Given the description of an element on the screen output the (x, y) to click on. 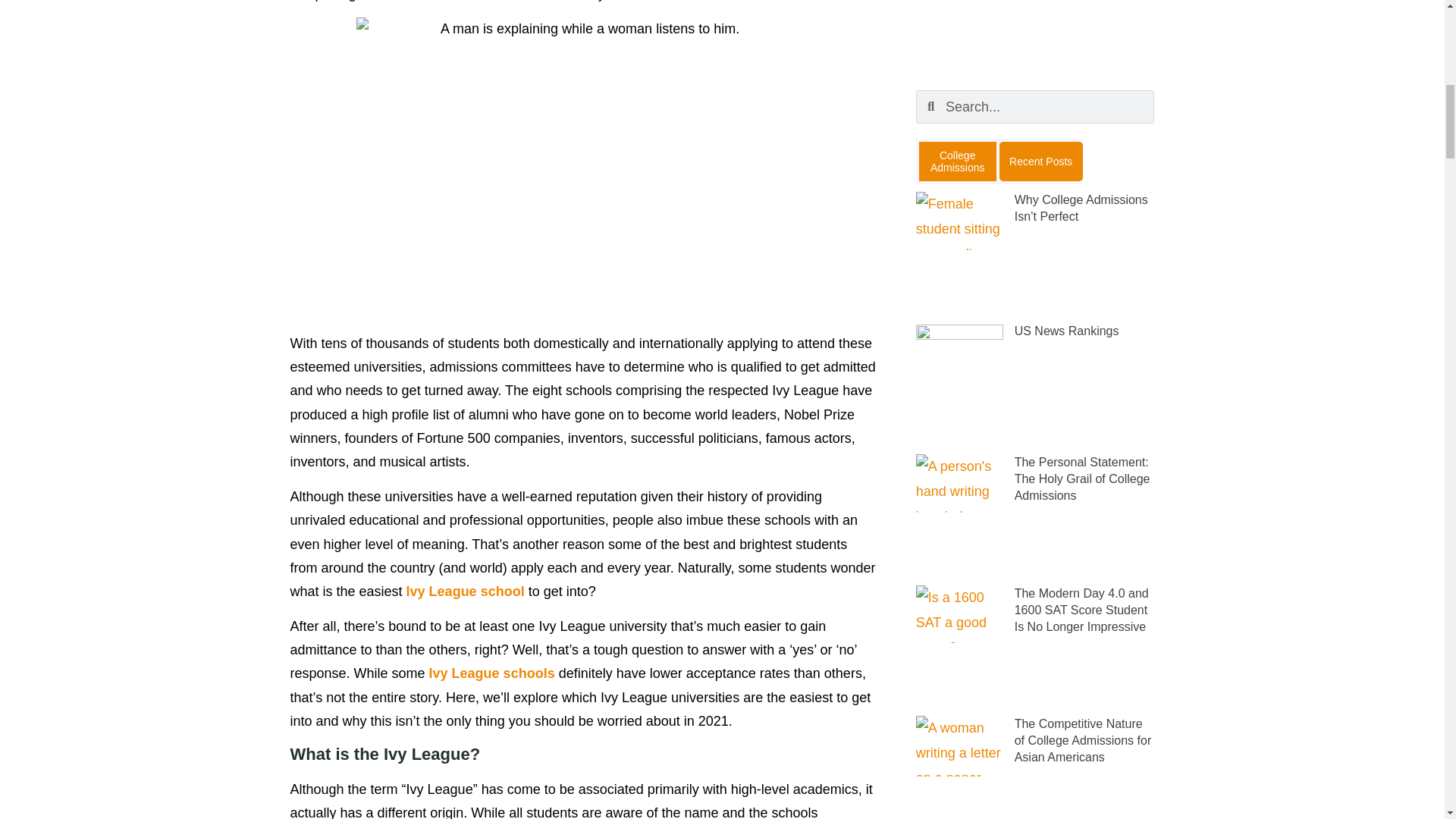
Ivy League schools (491, 672)
